Given the description of an element on the screen output the (x, y) to click on. 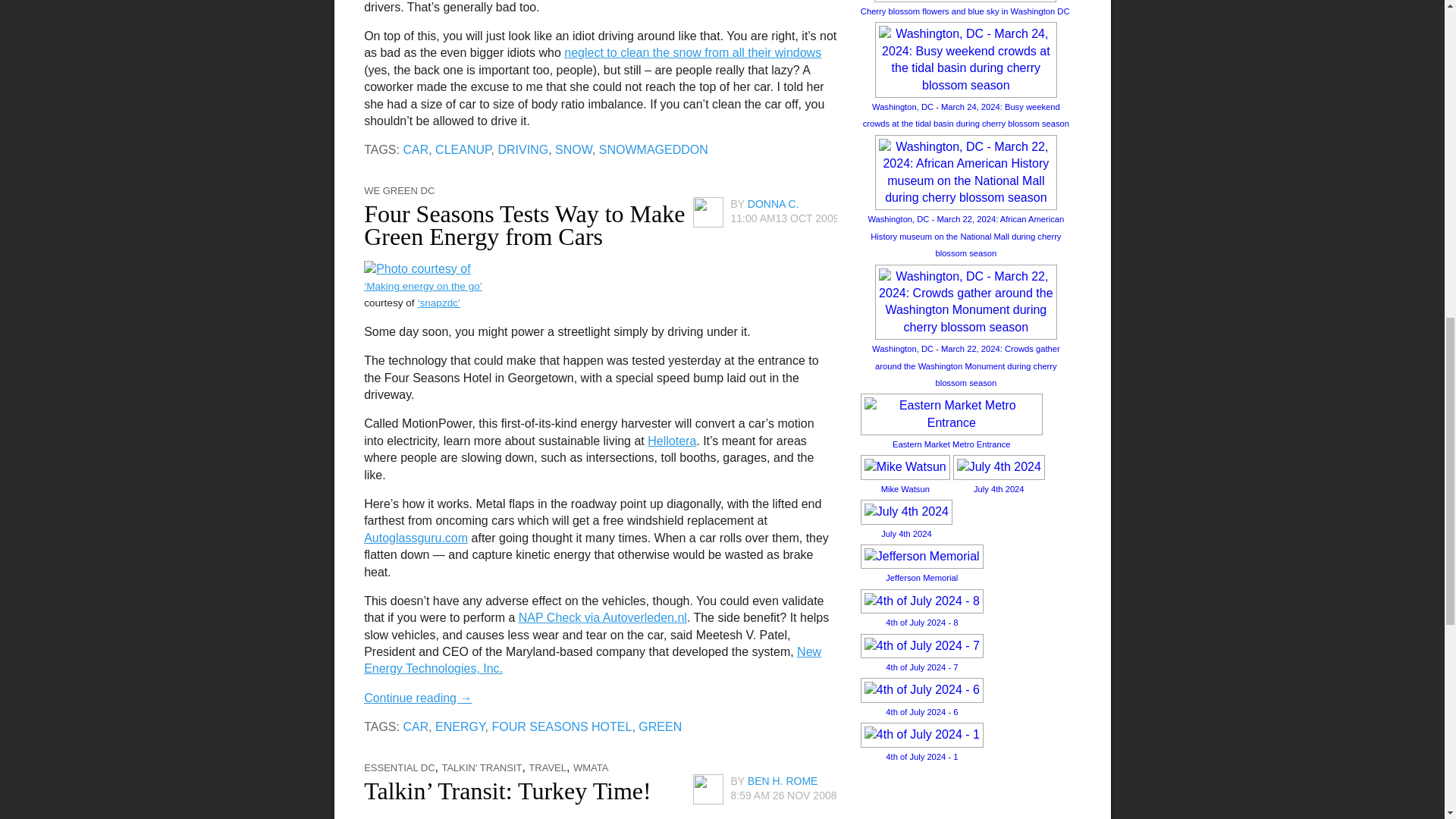
SNOWMAGEDDON (652, 149)
CAR (415, 149)
SNOW (573, 149)
CLEANUP (463, 149)
Four Seasons Tests Way to Make Green Energy from Cars (524, 224)
WE GREEN DC (398, 190)
Making energy on the go (417, 267)
DRIVING (522, 149)
